Given the description of an element on the screen output the (x, y) to click on. 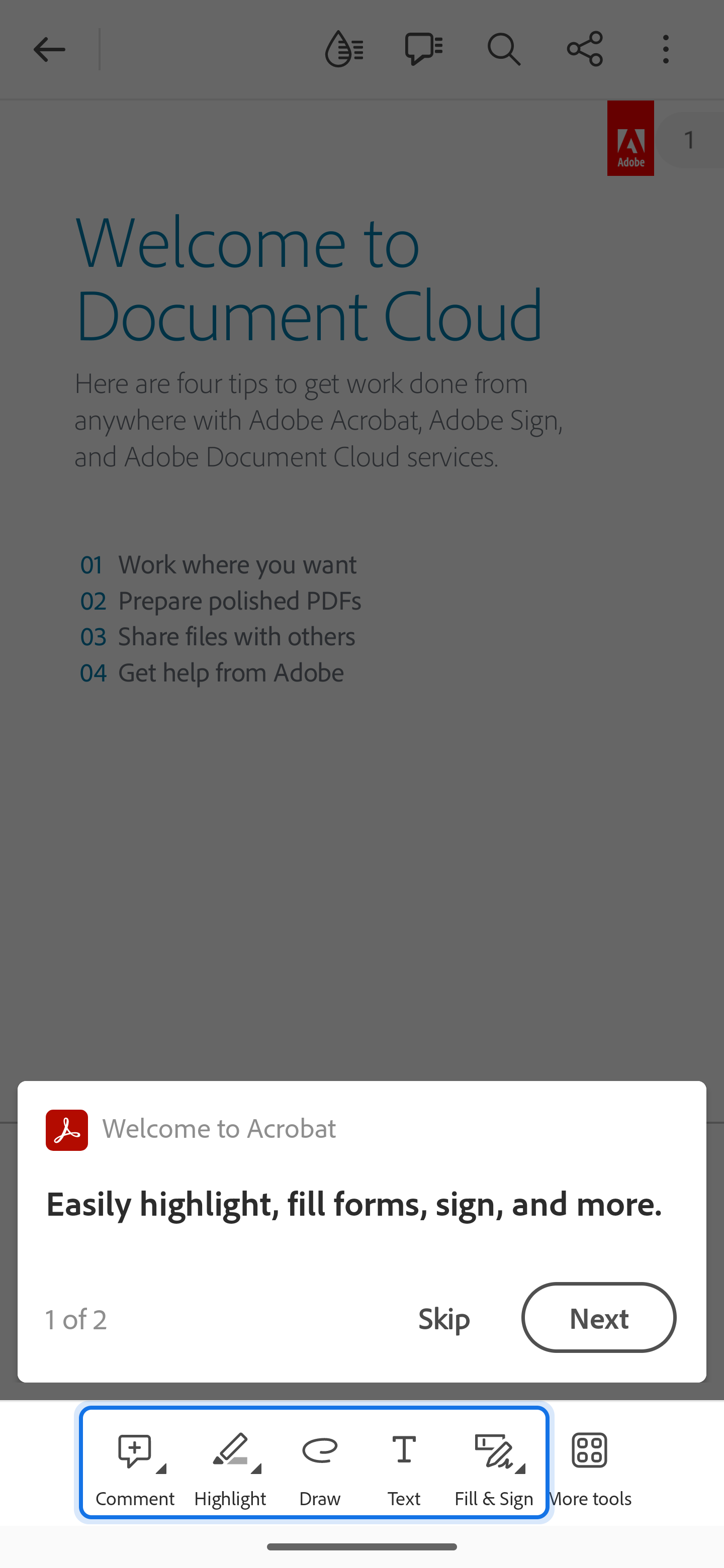
Next (598, 1317)
Skip (444, 1317)
Comment (134, 1463)
Highlight (229, 1463)
Draw (319, 1463)
Text (404, 1463)
Fill & Sign (493, 1463)
More tools (588, 1463)
